Given the description of an element on the screen output the (x, y) to click on. 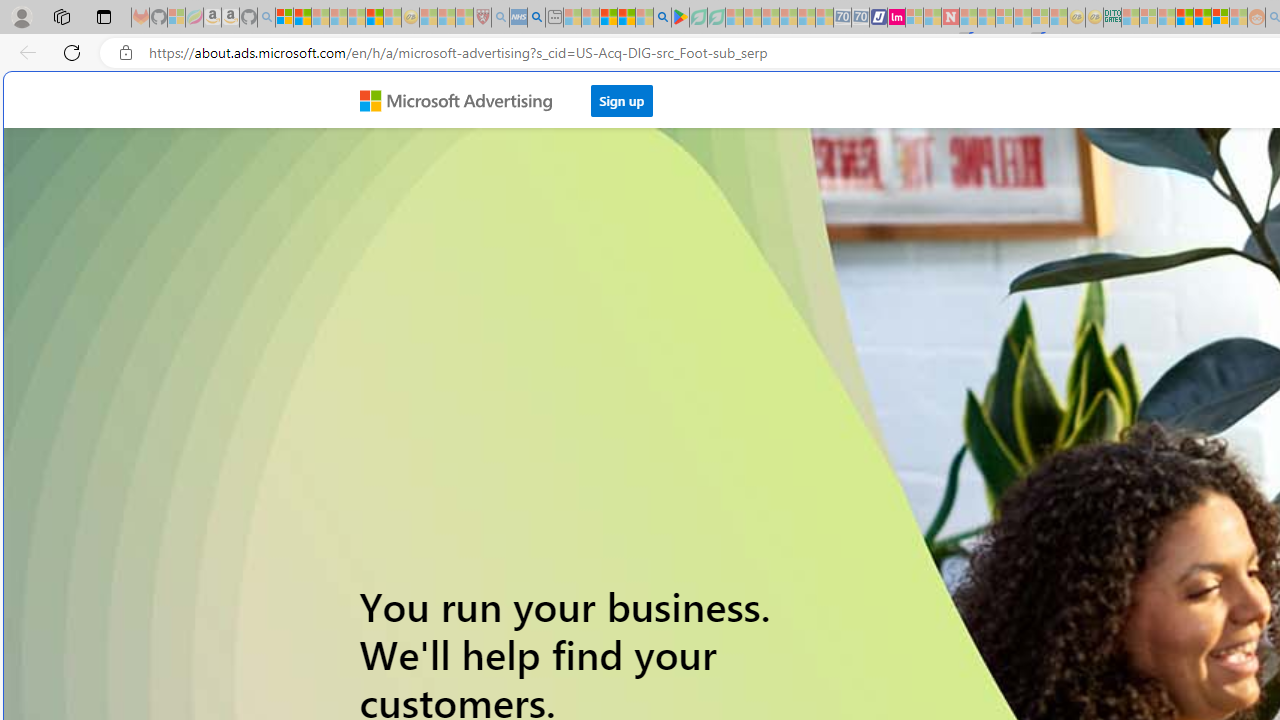
Expert Portfolios (1184, 17)
Sign up (621, 95)
